Given the description of an element on the screen output the (x, y) to click on. 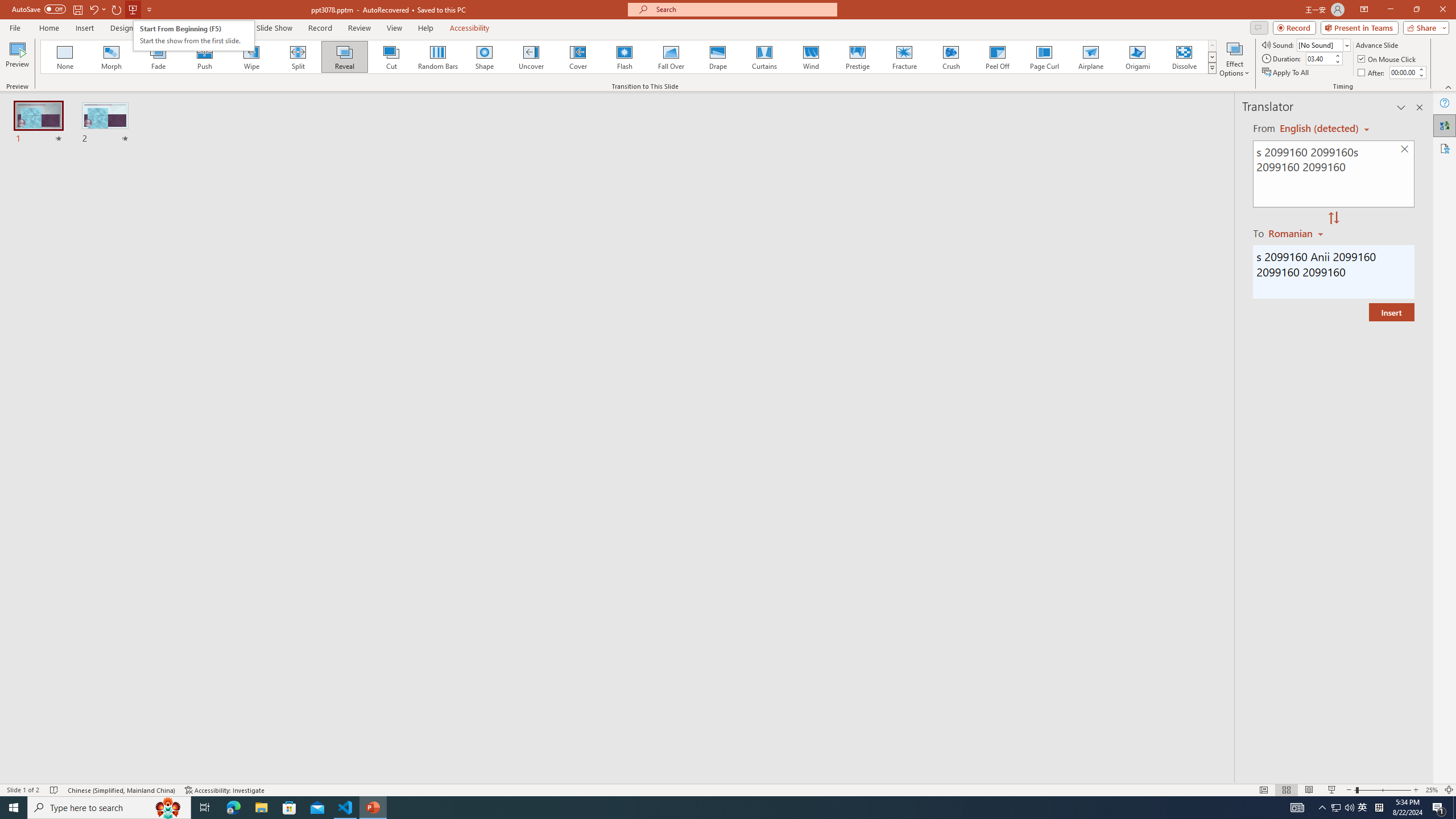
Curtains (764, 56)
Wind (810, 56)
None (65, 56)
Split (298, 56)
Drape (717, 56)
Wipe (251, 56)
Prestige (857, 56)
